Given the description of an element on the screen output the (x, y) to click on. 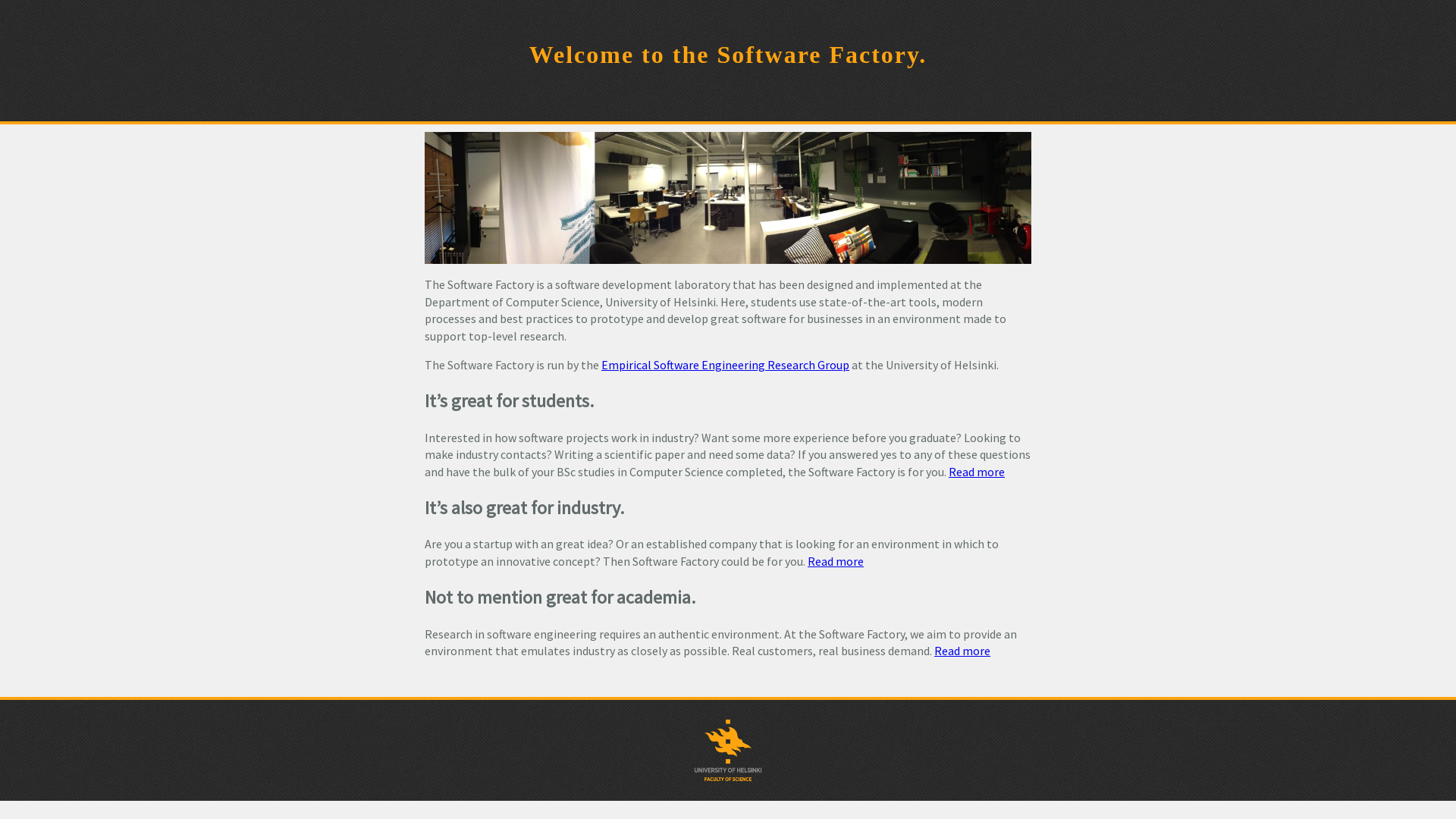
Empirical Software Engineering Research Group Element type: text (725, 364)
Read more Element type: text (835, 560)
Read more Element type: text (976, 471)
Read more Element type: text (962, 650)
